Given the description of an element on the screen output the (x, y) to click on. 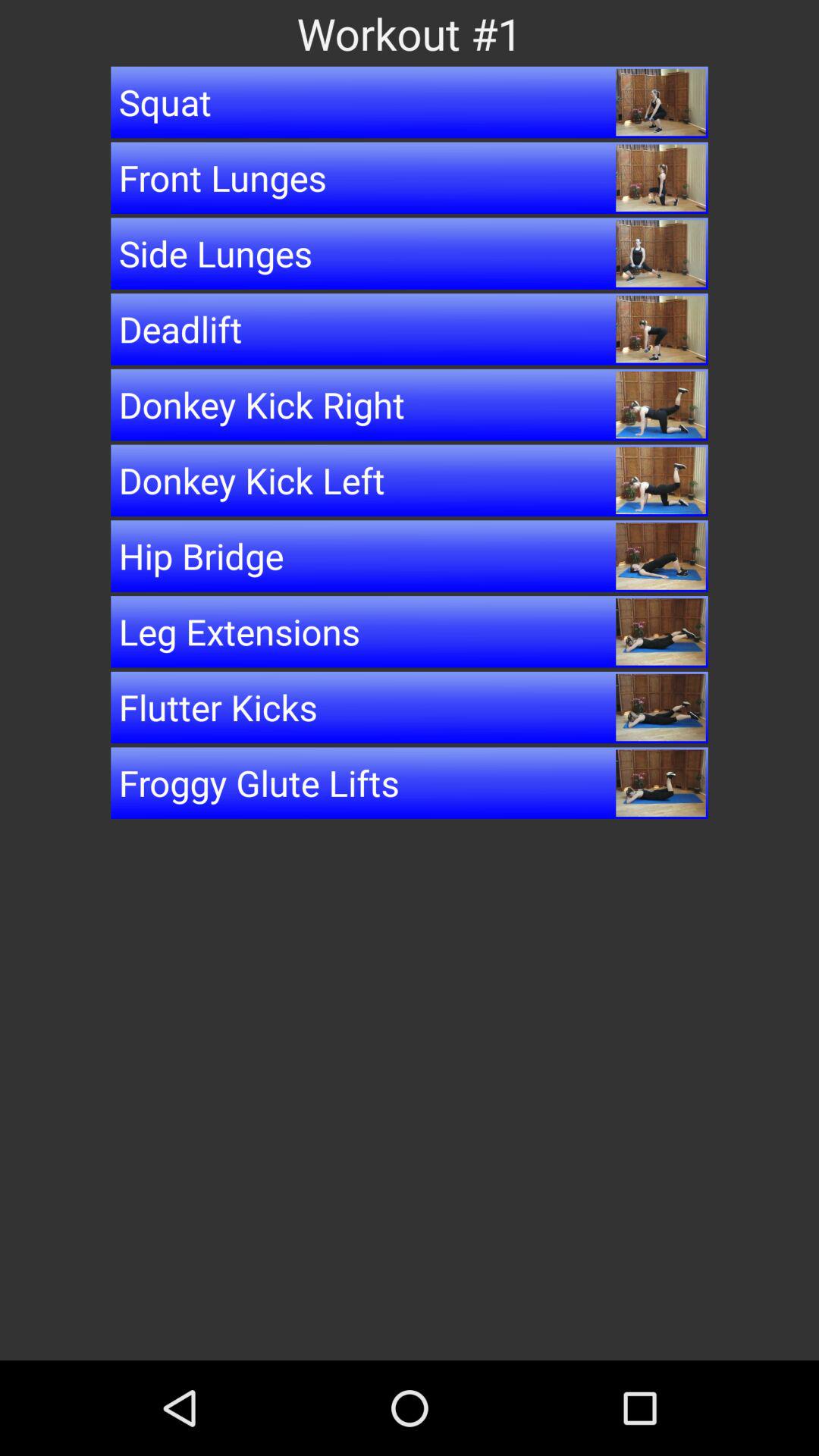
turn on side lunges icon (409, 253)
